Given the description of an element on the screen output the (x, y) to click on. 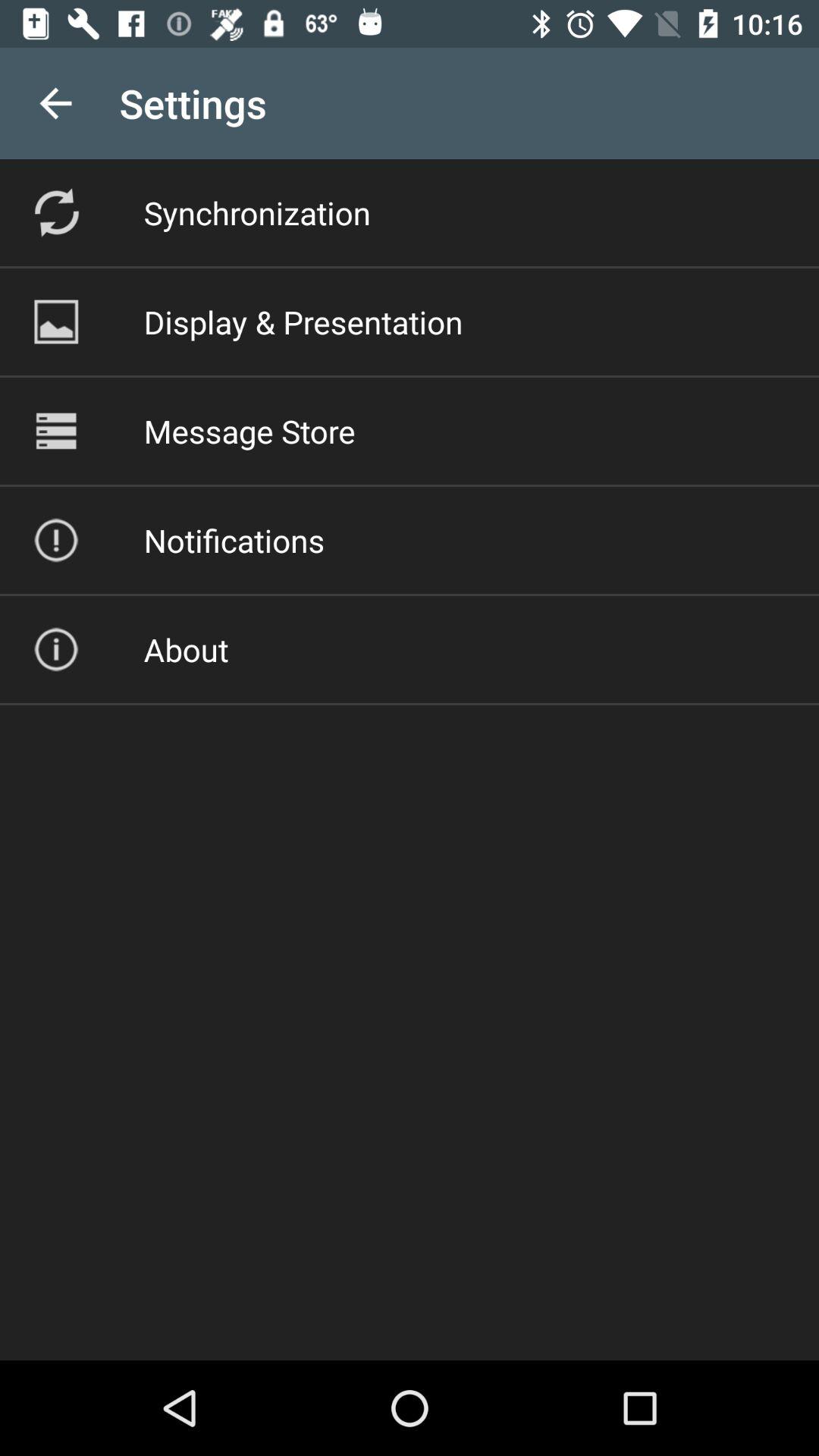
press the icon below the message store icon (233, 539)
